Given the description of an element on the screen output the (x, y) to click on. 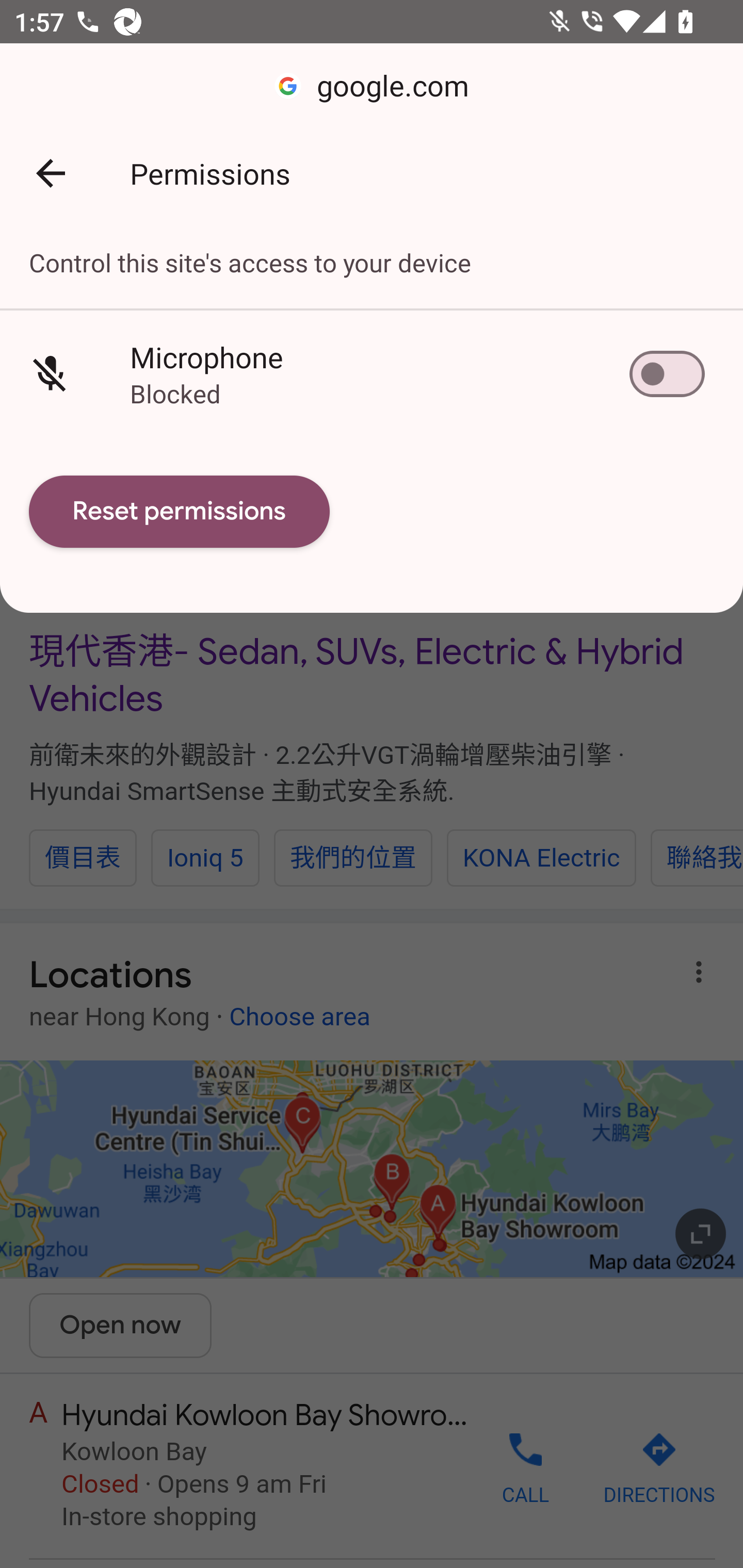
google.com (371, 86)
Back (50, 173)
Microphone Blocked (371, 373)
Reset permissions (178, 511)
